Given the description of an element on the screen output the (x, y) to click on. 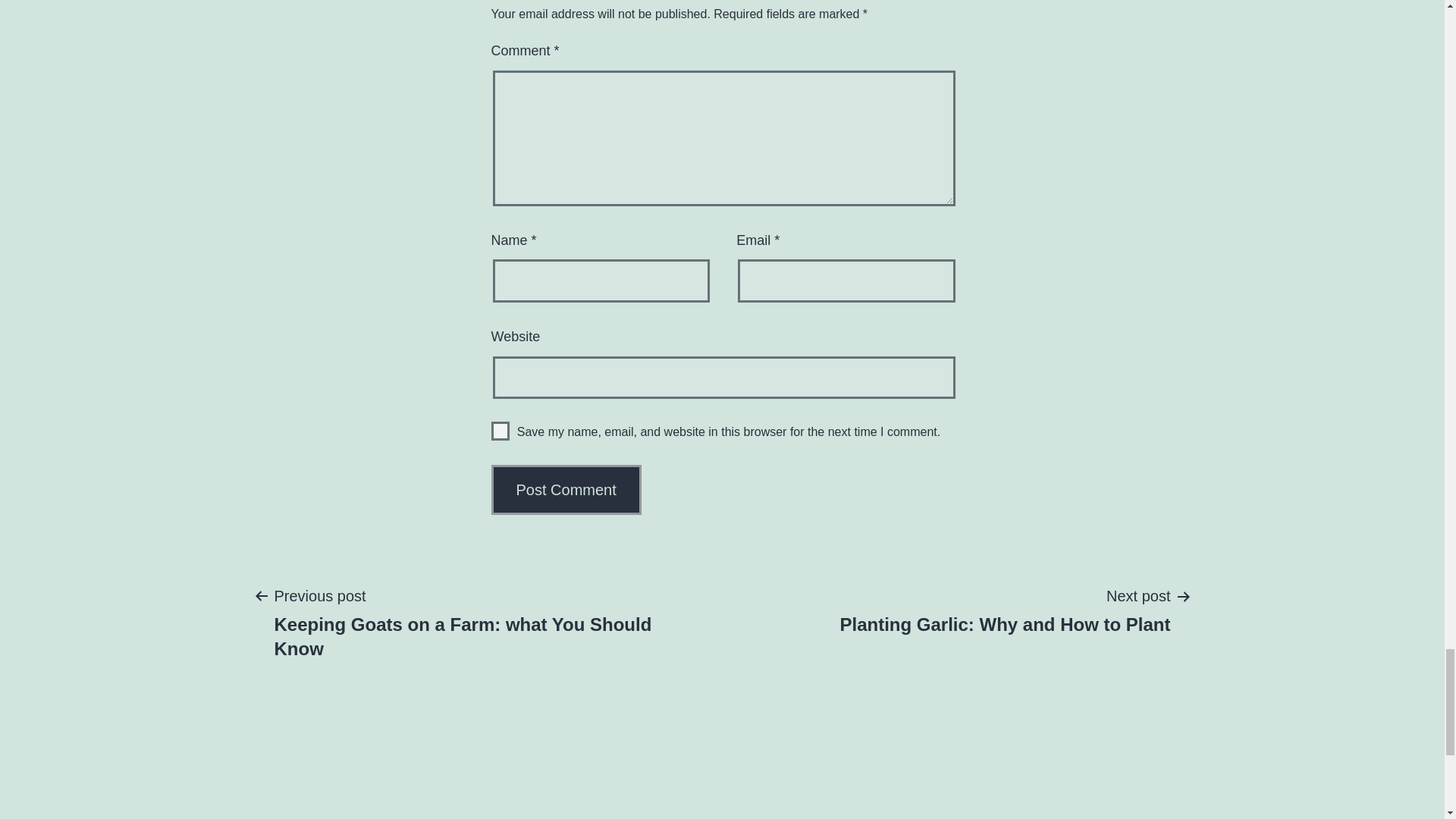
yes (500, 430)
Post Comment (482, 621)
Post Comment (1004, 609)
